Given the description of an element on the screen output the (x, y) to click on. 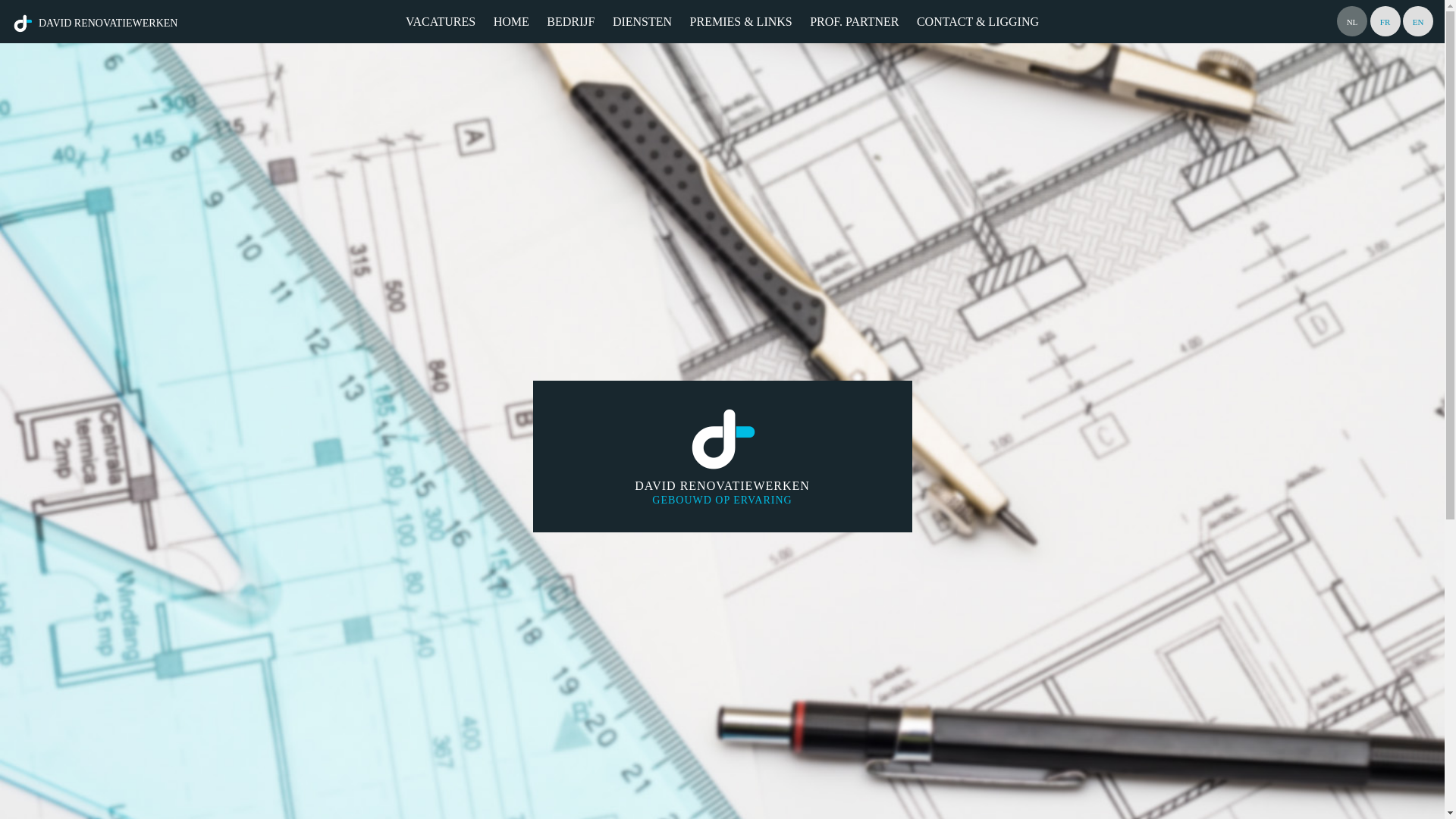
BEDRIJF Element type: text (570, 21)
CONTACT & LIGGING Element type: text (977, 21)
DIENSTEN Element type: text (641, 21)
NL Element type: text (1351, 21)
FR Element type: text (1384, 21)
EN Element type: text (1417, 21)
PREMIES & LINKS Element type: text (741, 21)
HOME Element type: text (511, 21)
PROF. PARTNER Element type: text (853, 21)
VACATURES Element type: text (440, 21)
